Given the description of an element on the screen output the (x, y) to click on. 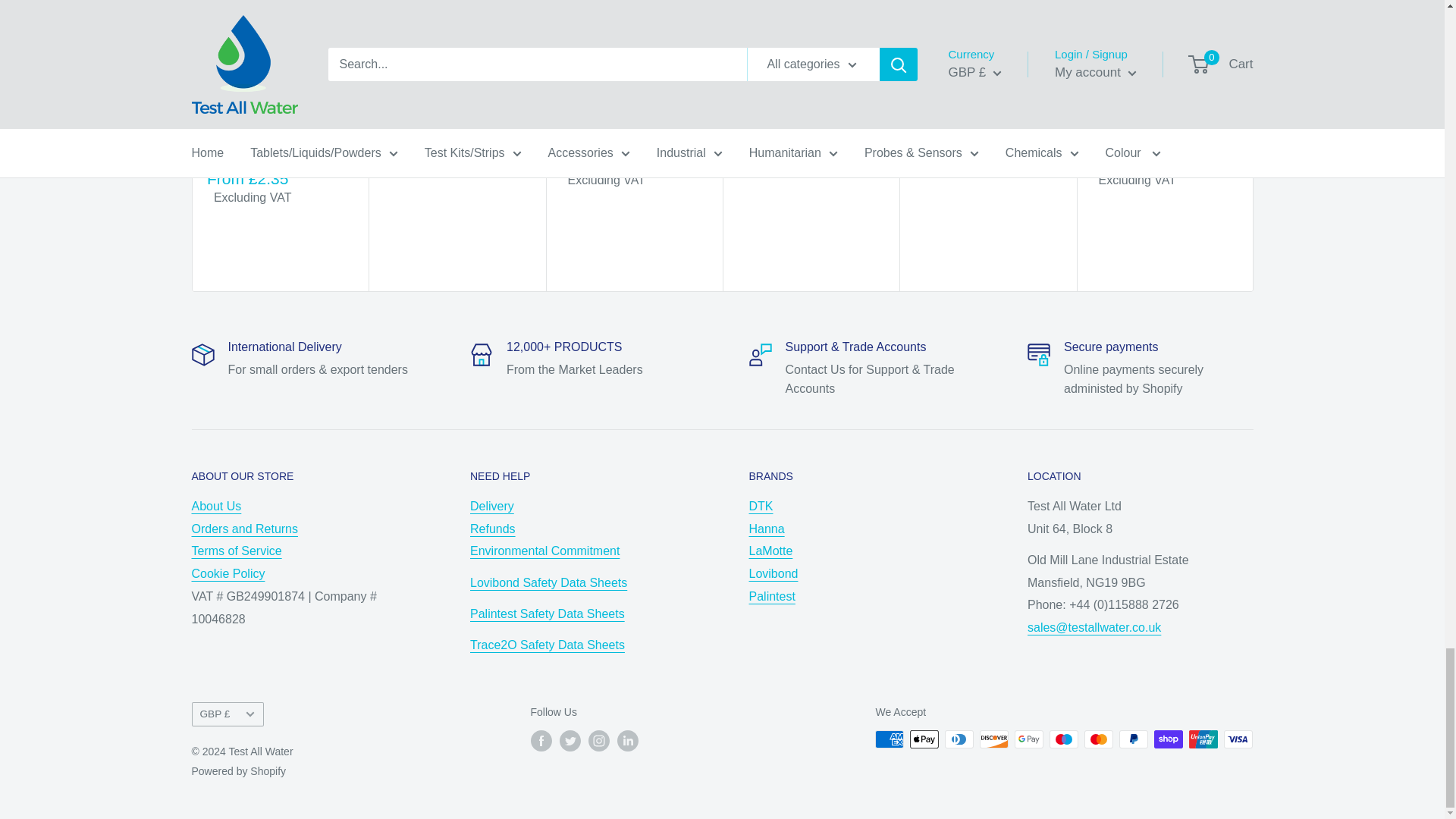
Terms of Service (235, 550)
Refunds Policy (492, 528)
Returns Policy (244, 528)
Delivery (491, 505)
Environmental Commitment (545, 550)
ABOUT US (215, 505)
Cookies (227, 573)
